Given the description of an element on the screen output the (x, y) to click on. 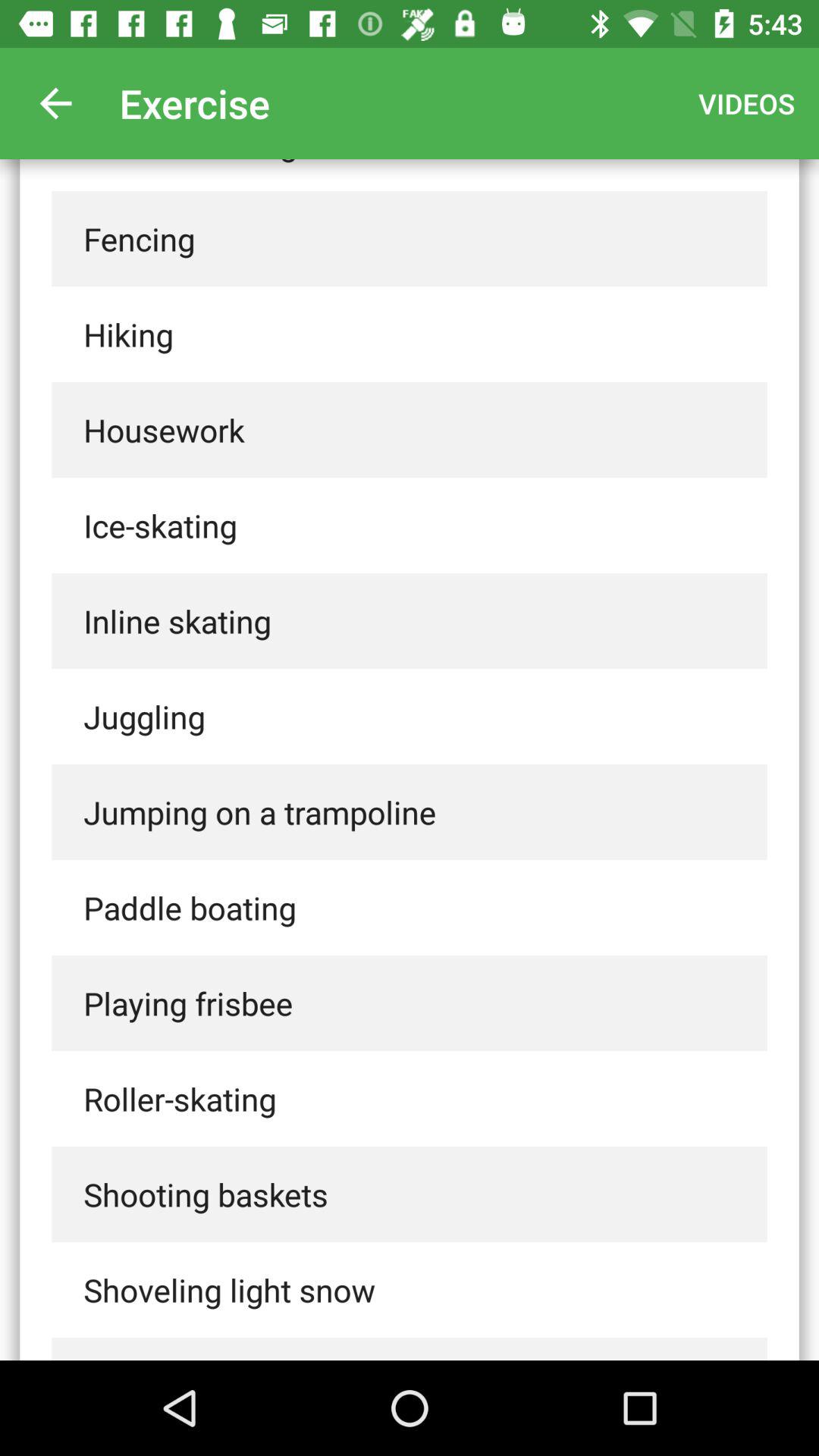
click app next to exercise icon (55, 103)
